Given the description of an element on the screen output the (x, y) to click on. 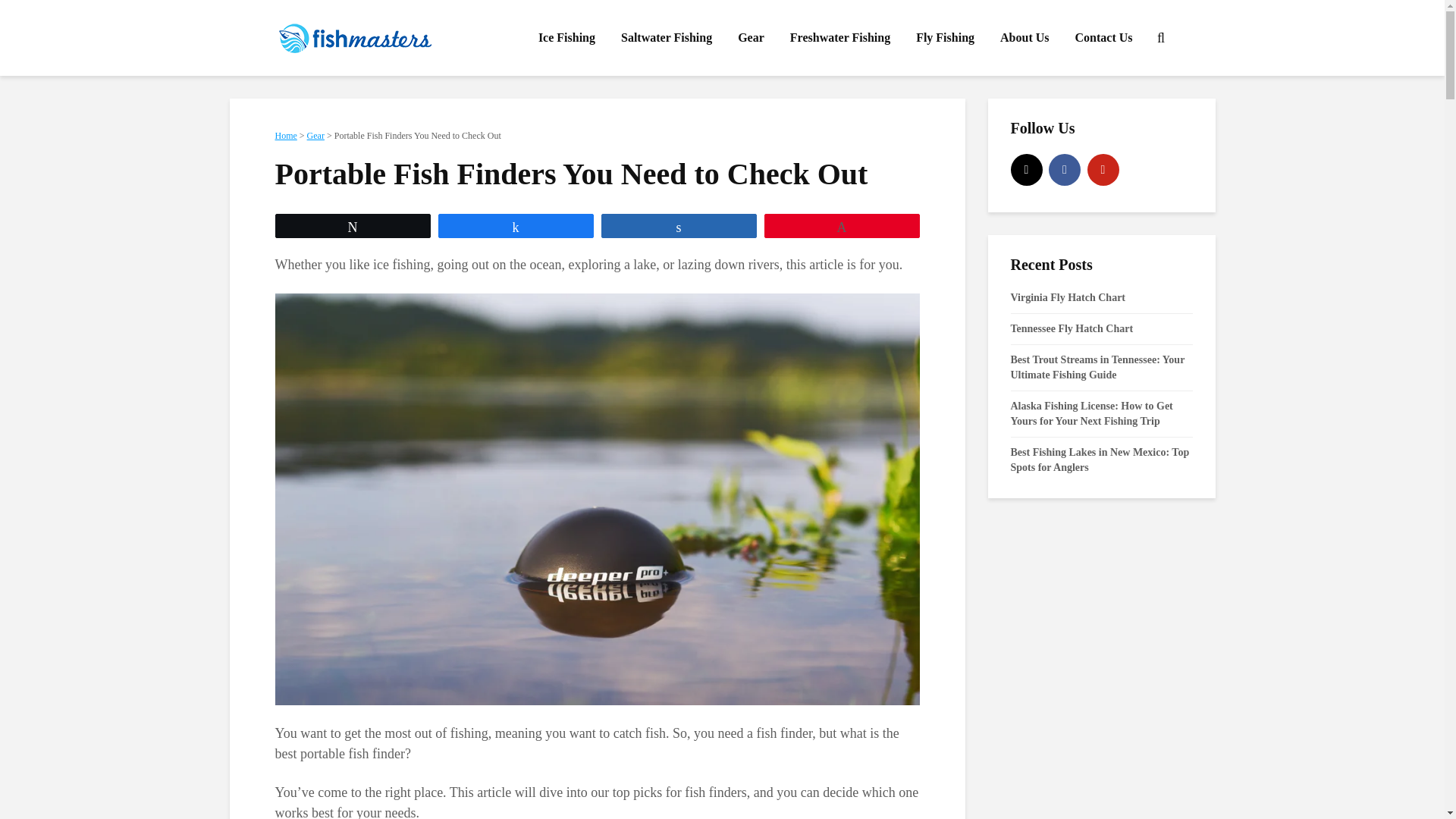
Pinterest (1103, 169)
Saltwater Fishing (666, 37)
Contact Us (1102, 37)
Home (286, 135)
Instagram (1026, 169)
Freshwater Fishing (839, 37)
Gear (315, 135)
Facebook (1064, 169)
Fly Fishing (944, 37)
About Us (1023, 37)
